Given the description of an element on the screen output the (x, y) to click on. 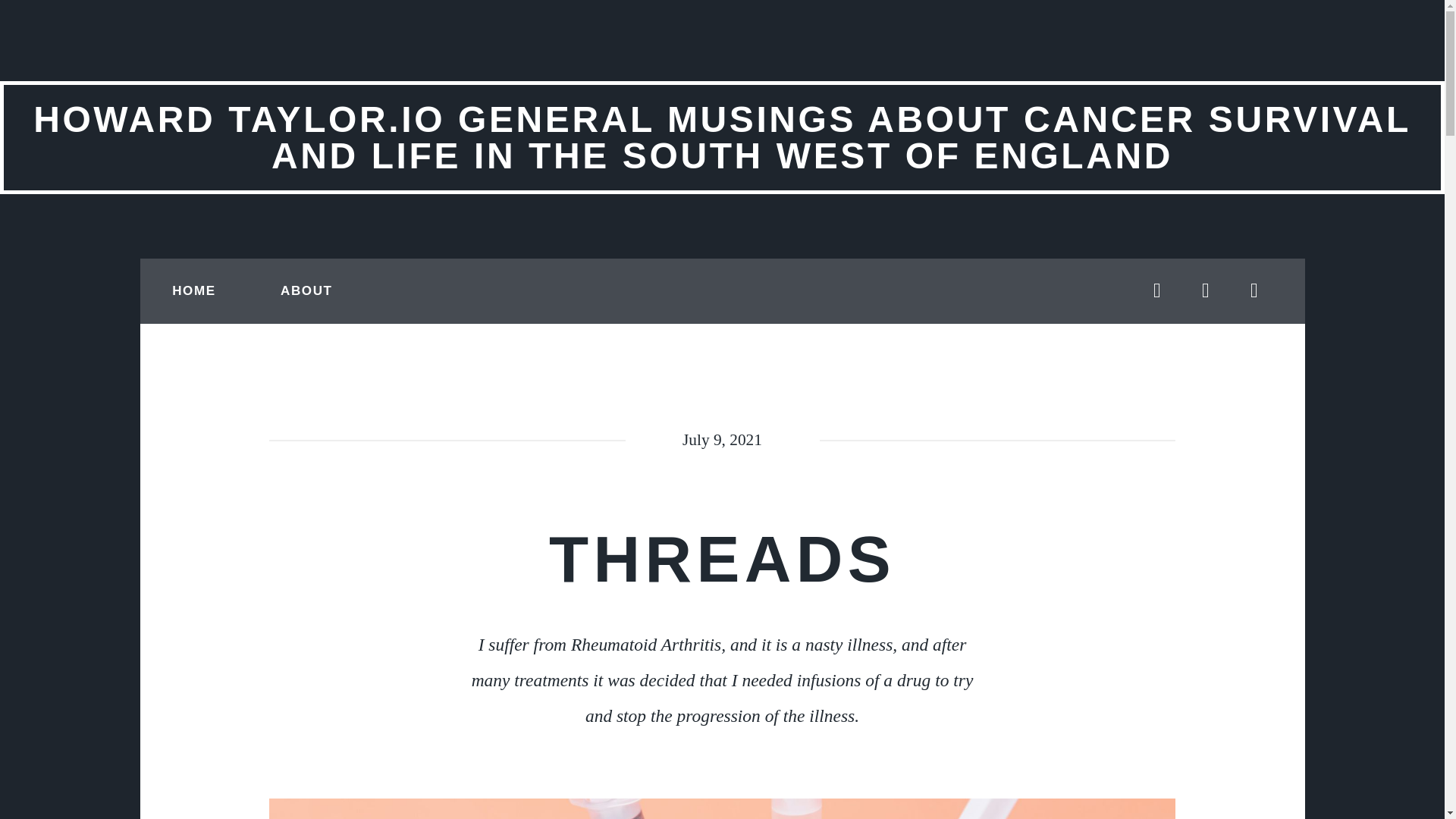
ABOUT (306, 290)
HOME (193, 290)
Twitter (1156, 291)
Facebook (1206, 291)
